Given the description of an element on the screen output the (x, y) to click on. 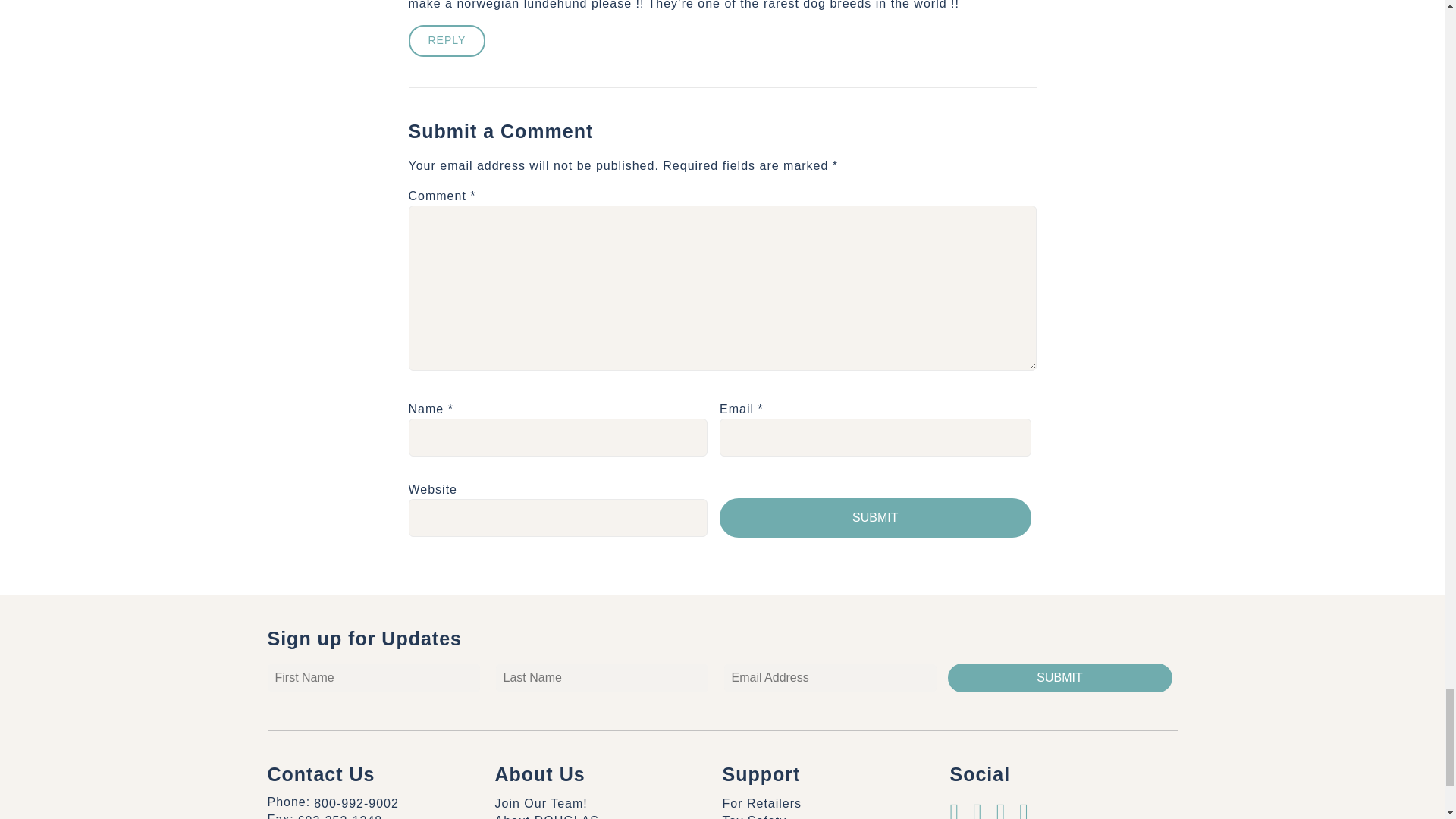
Submit (1059, 677)
Submit (874, 517)
